Given the description of an element on the screen output the (x, y) to click on. 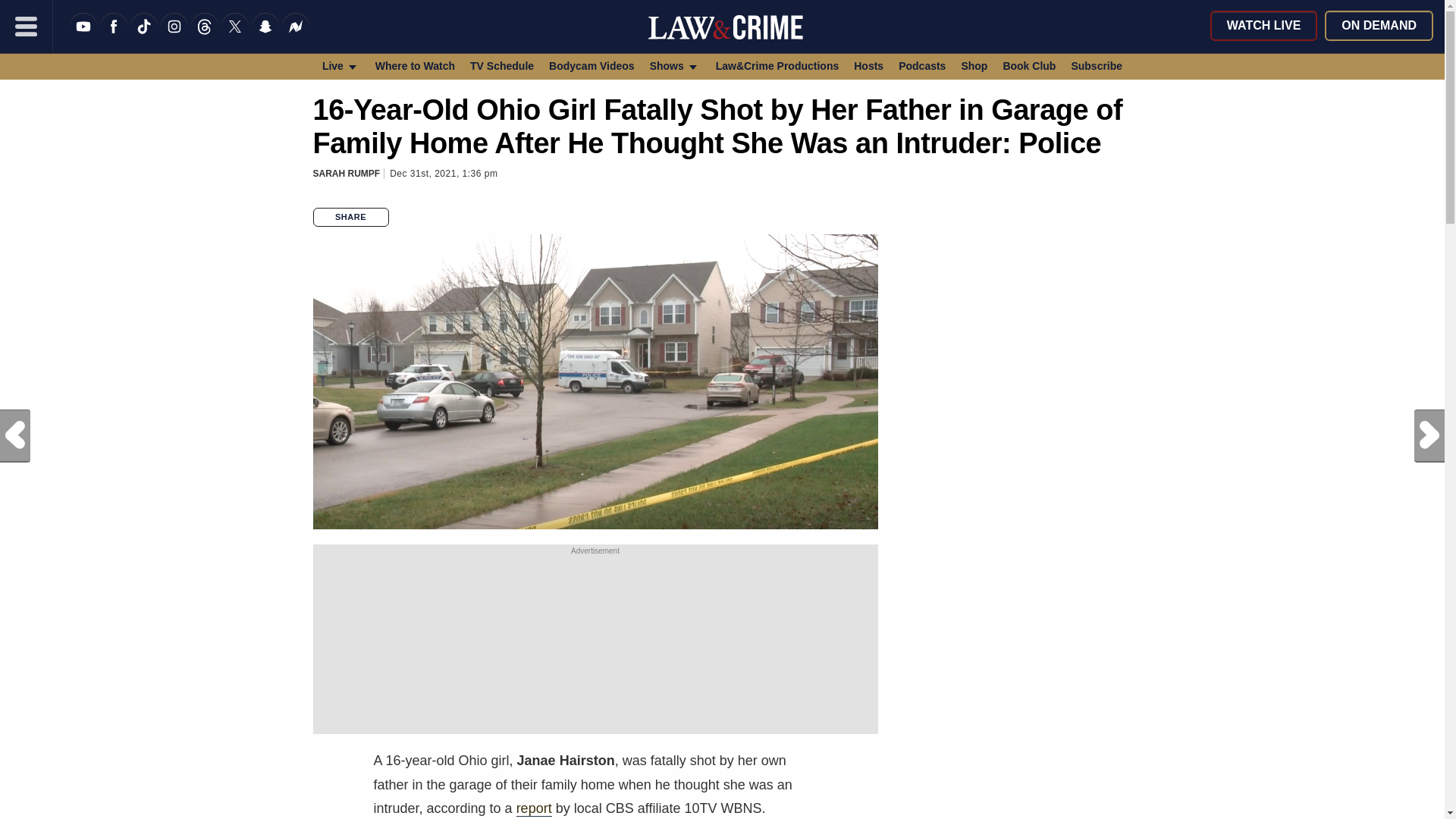
YouTube (83, 35)
Snapchat (265, 35)
TikTok (144, 35)
News Break (295, 35)
Instagram (173, 35)
Threads (204, 35)
Like us on Facebook (114, 35)
Posts by Sarah Rumpf (346, 173)
